Given the description of an element on the screen output the (x, y) to click on. 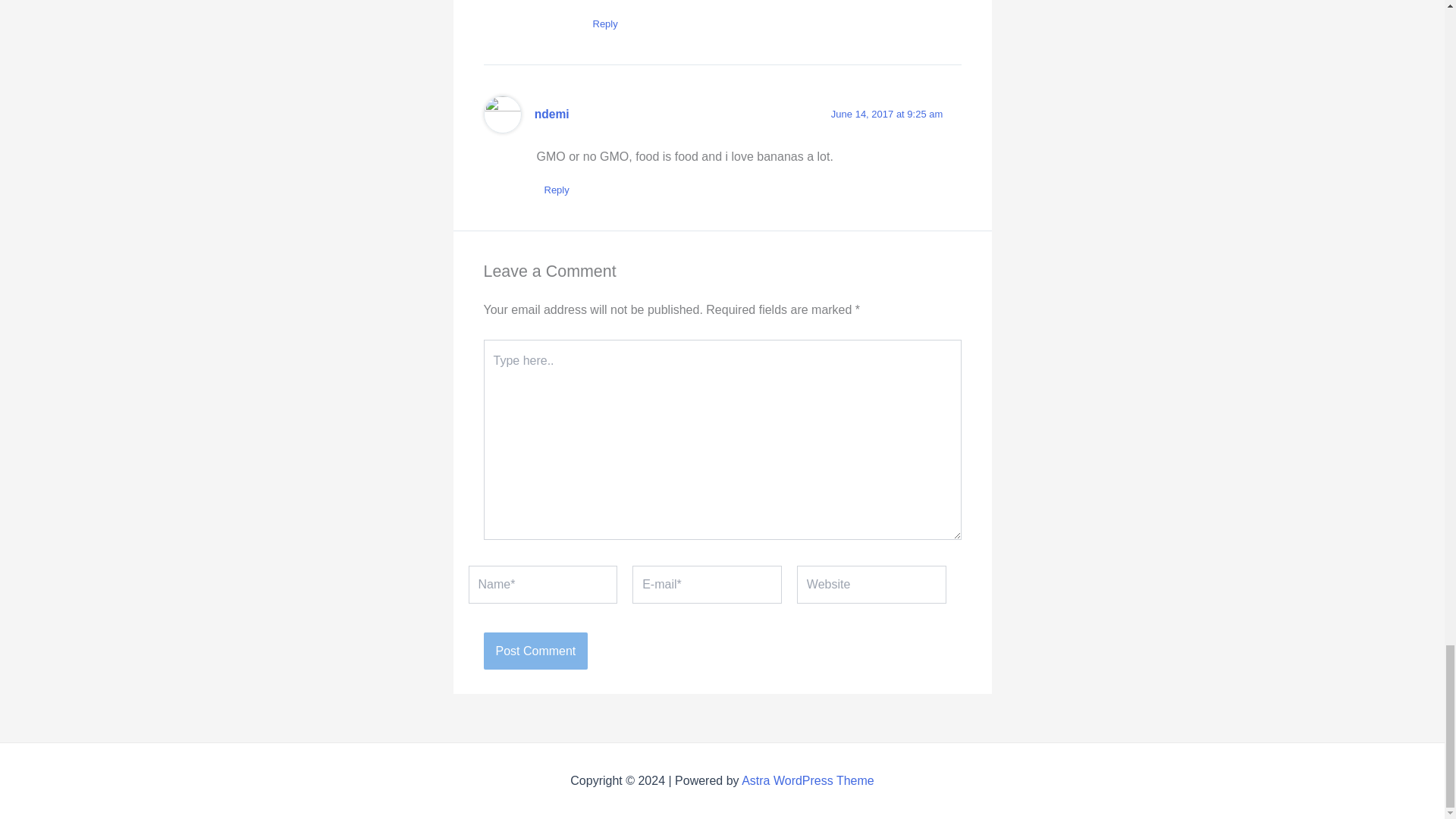
Post Comment (535, 650)
